Given the description of an element on the screen output the (x, y) to click on. 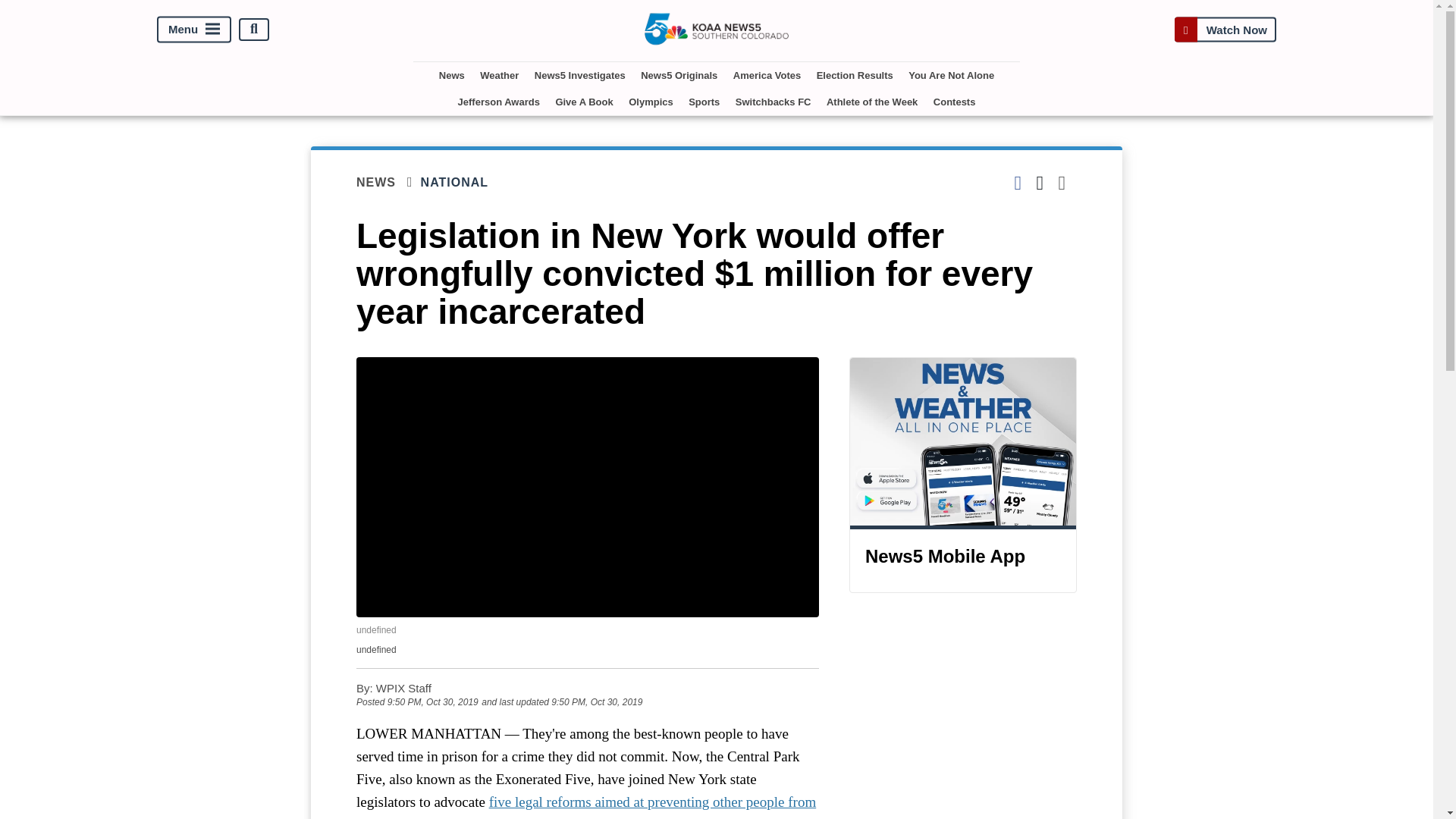
Watch Now (1224, 29)
Menu (194, 28)
